Given the description of an element on the screen output the (x, y) to click on. 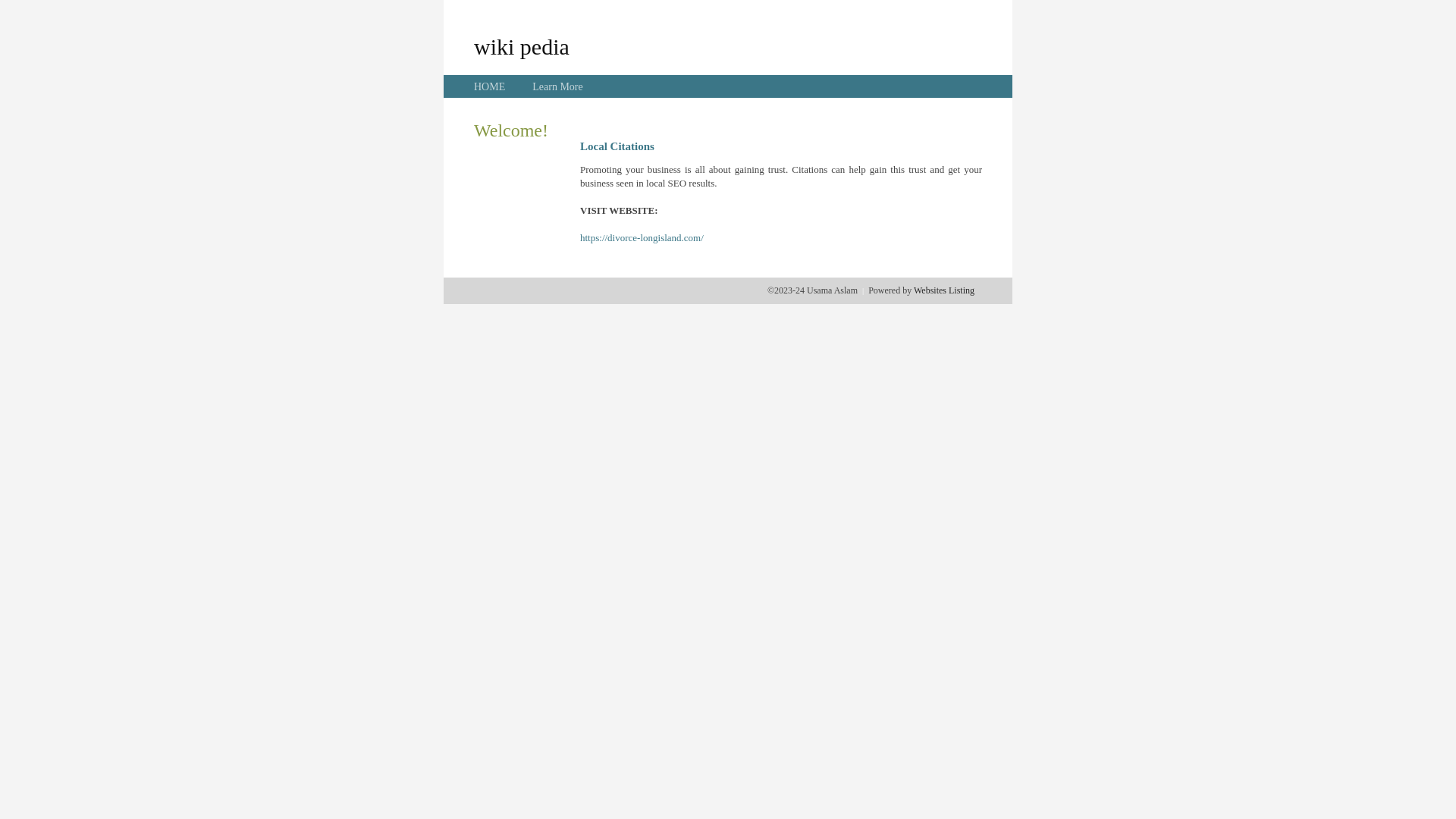
Websites Listing Element type: text (943, 290)
HOME Element type: text (489, 86)
Learn More Element type: text (557, 86)
https://divorce-longisland.com/ Element type: text (641, 237)
wiki pedia Element type: text (521, 46)
